Given the description of an element on the screen output the (x, y) to click on. 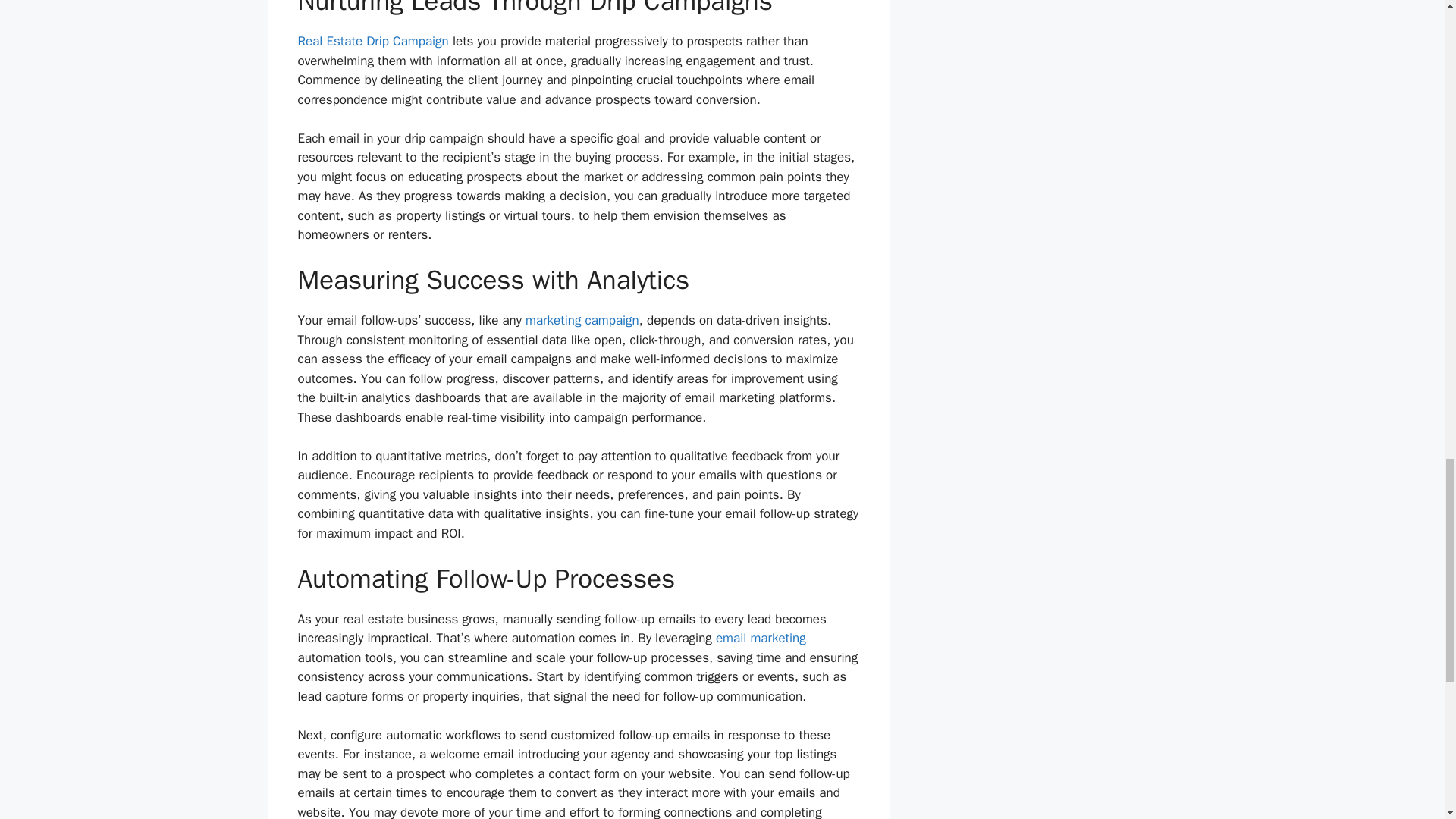
marketing campaign (582, 320)
email marketing (761, 637)
Real Estate Drip Campaign (372, 41)
